Given the description of an element on the screen output the (x, y) to click on. 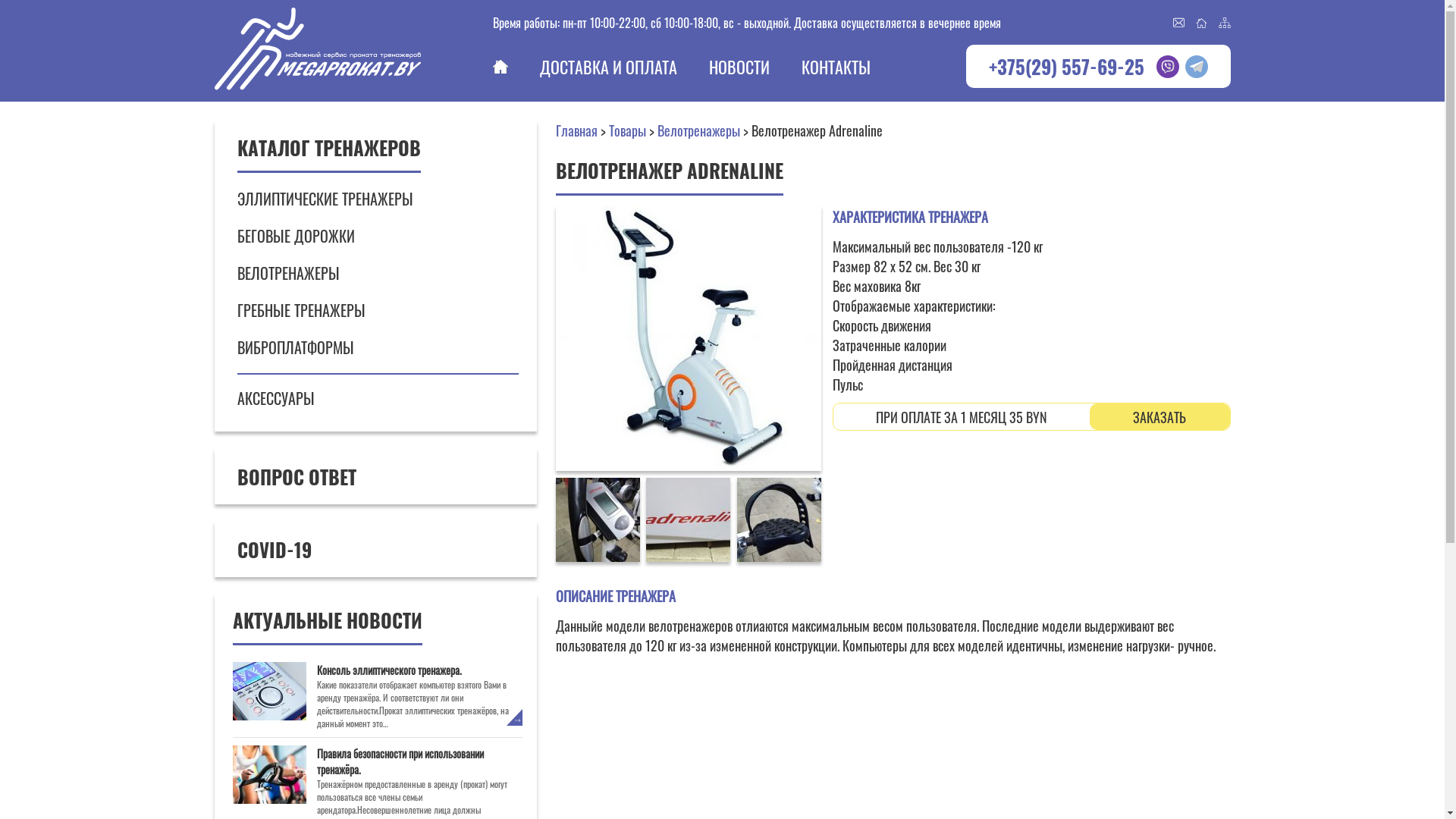
+375(29) 557-69-25 Element type: text (1066, 66)
COVID-19 Element type: text (374, 548)
